Given the description of an element on the screen output the (x, y) to click on. 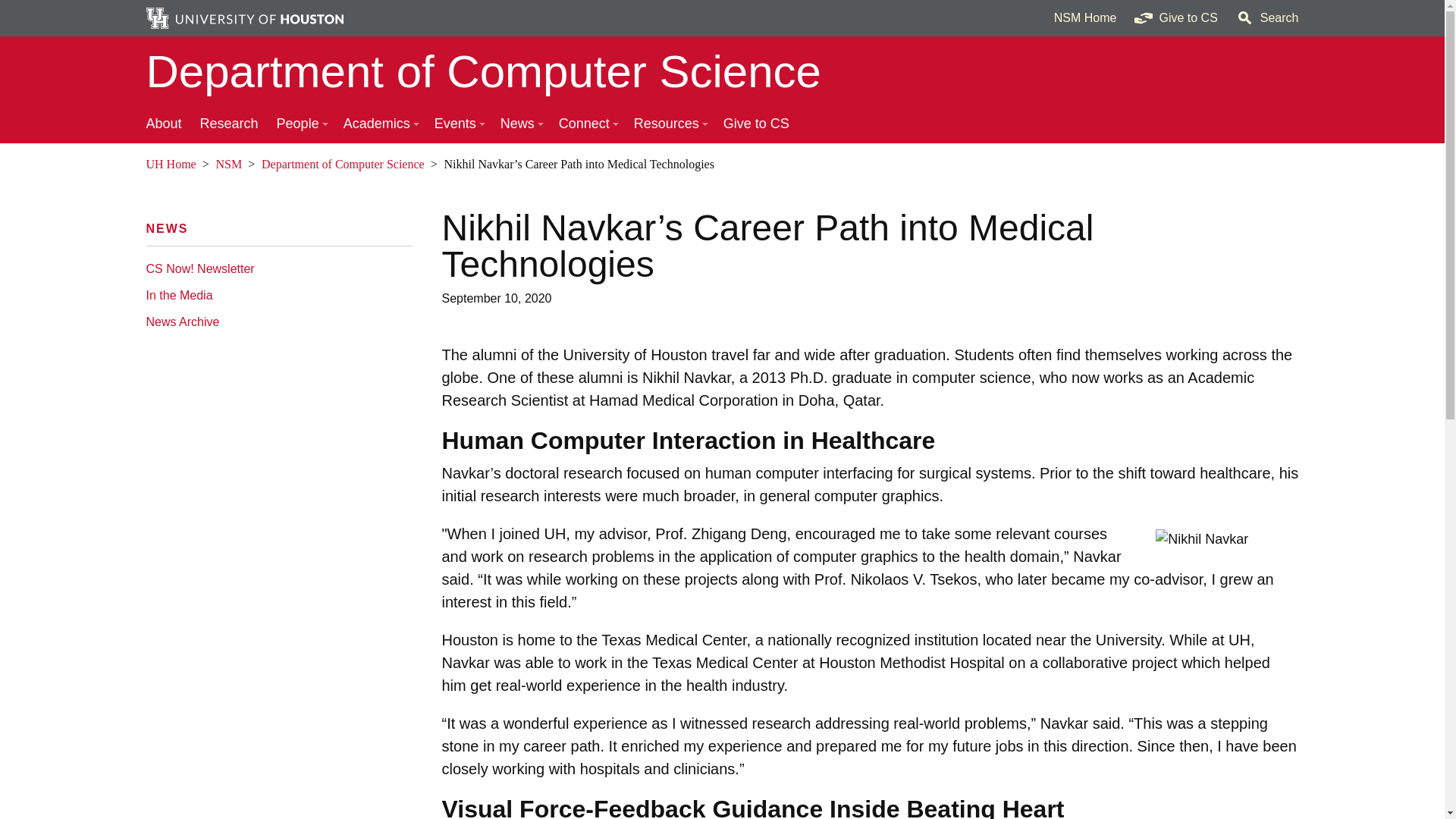
Academics (379, 123)
CS Now! Newsletter (274, 268)
News (521, 123)
Resources (669, 123)
Give to CS (1175, 18)
People (300, 123)
Connect (587, 123)
Search (1267, 18)
News Archive (274, 321)
News (166, 228)
Research (228, 123)
In the Media (274, 294)
NSM Home (1085, 18)
About (163, 123)
Events (458, 123)
